Given the description of an element on the screen output the (x, y) to click on. 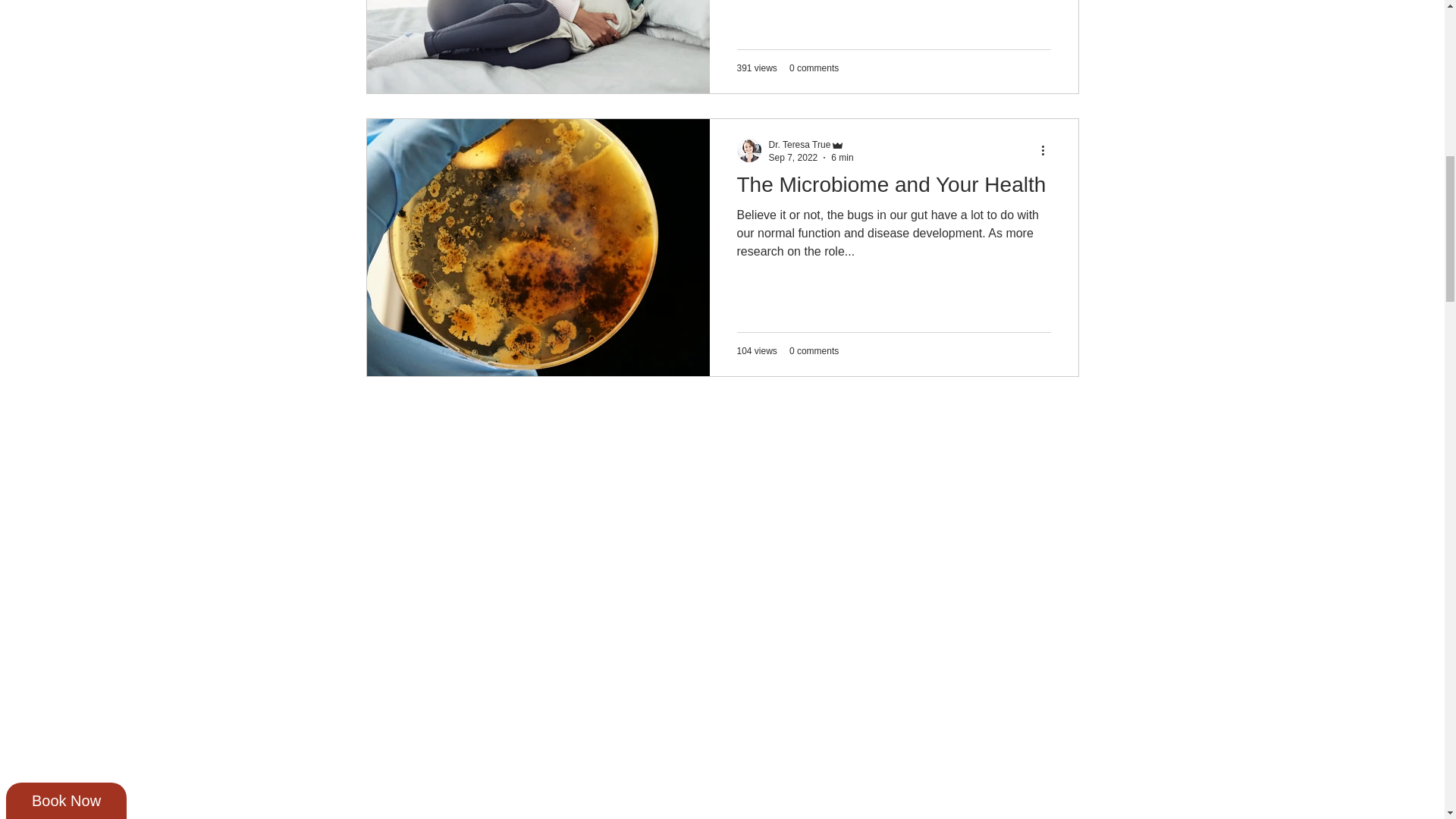
6 min (842, 156)
Sep 7, 2022 (793, 156)
Dr. Teresa True (799, 144)
